Given the description of an element on the screen output the (x, y) to click on. 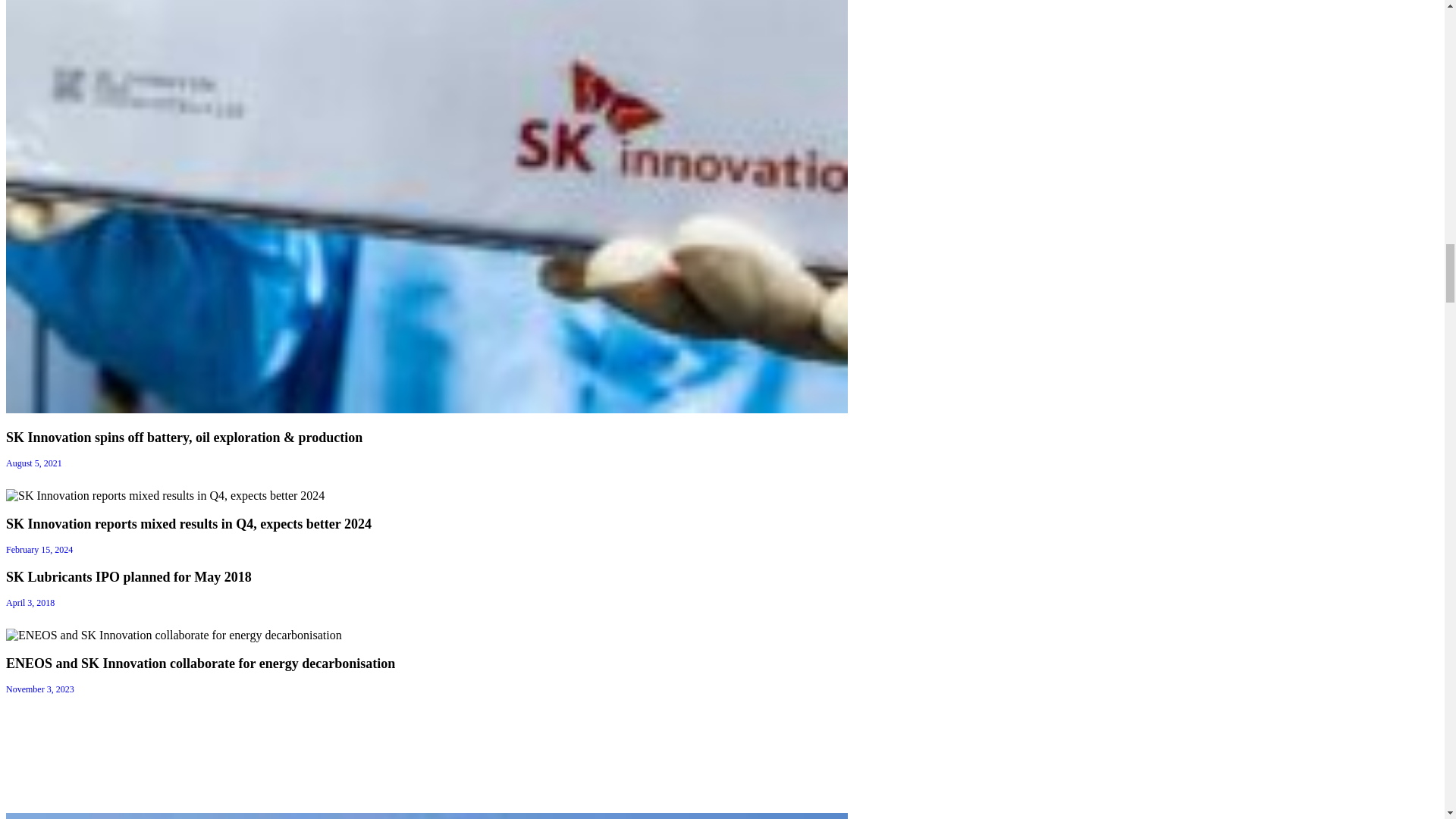
November 3, 2023 (39, 688)
April 3, 2018 (30, 602)
February 15, 2024 (38, 549)
August 5, 2021 (33, 462)
SK Lubricants IPO planned for May 2018 (128, 576)
